Given the description of an element on the screen output the (x, y) to click on. 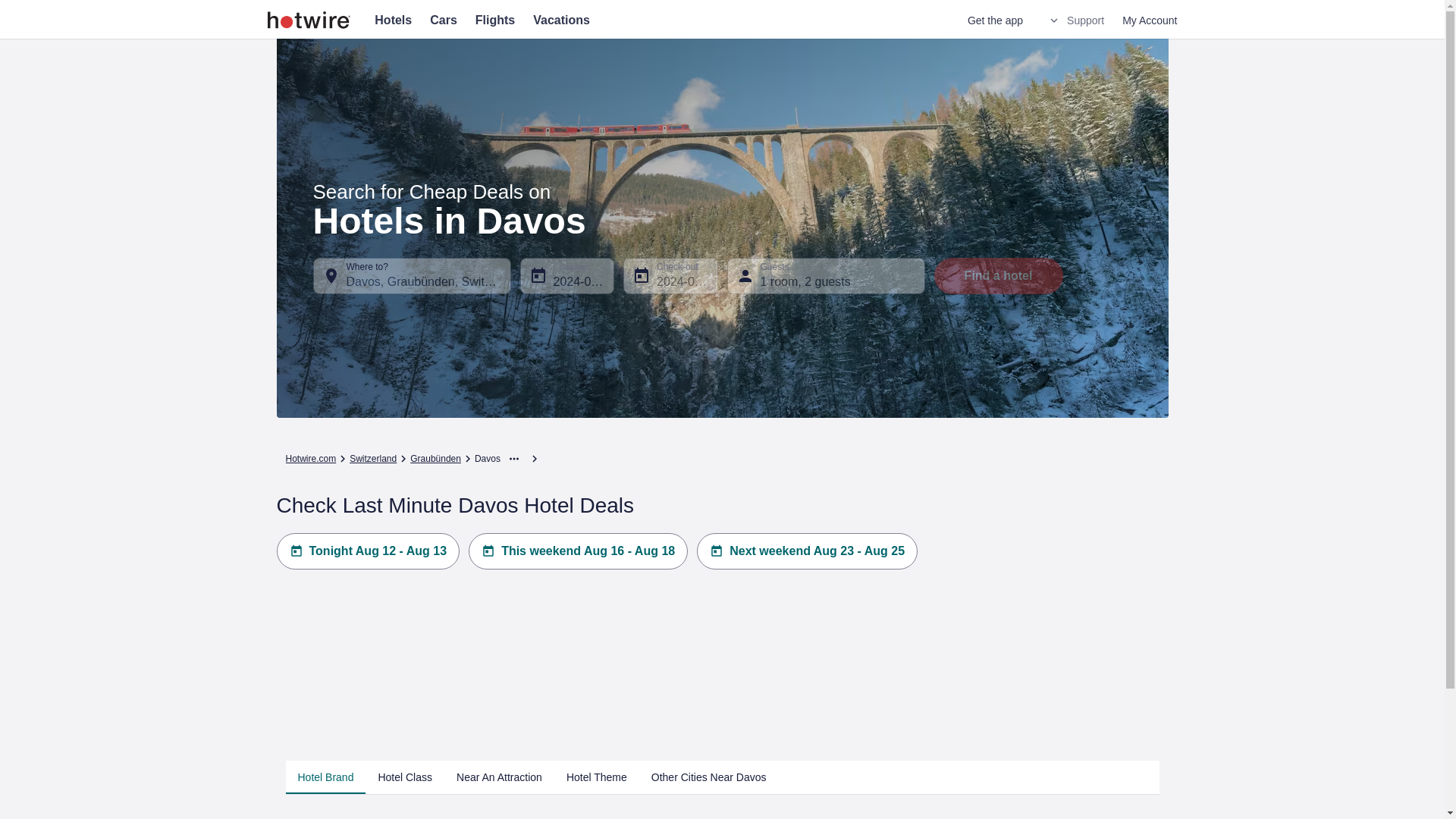
Tonight Aug 12 - Aug 13 (368, 551)
1 room, 2 guests (825, 275)
Flights (495, 19)
Find a hotel (998, 275)
Hotels (393, 19)
Switzerland (372, 458)
Get the app (995, 20)
Hotel Brand (325, 776)
Hotwire.com (310, 458)
